Given the description of an element on the screen output the (x, y) to click on. 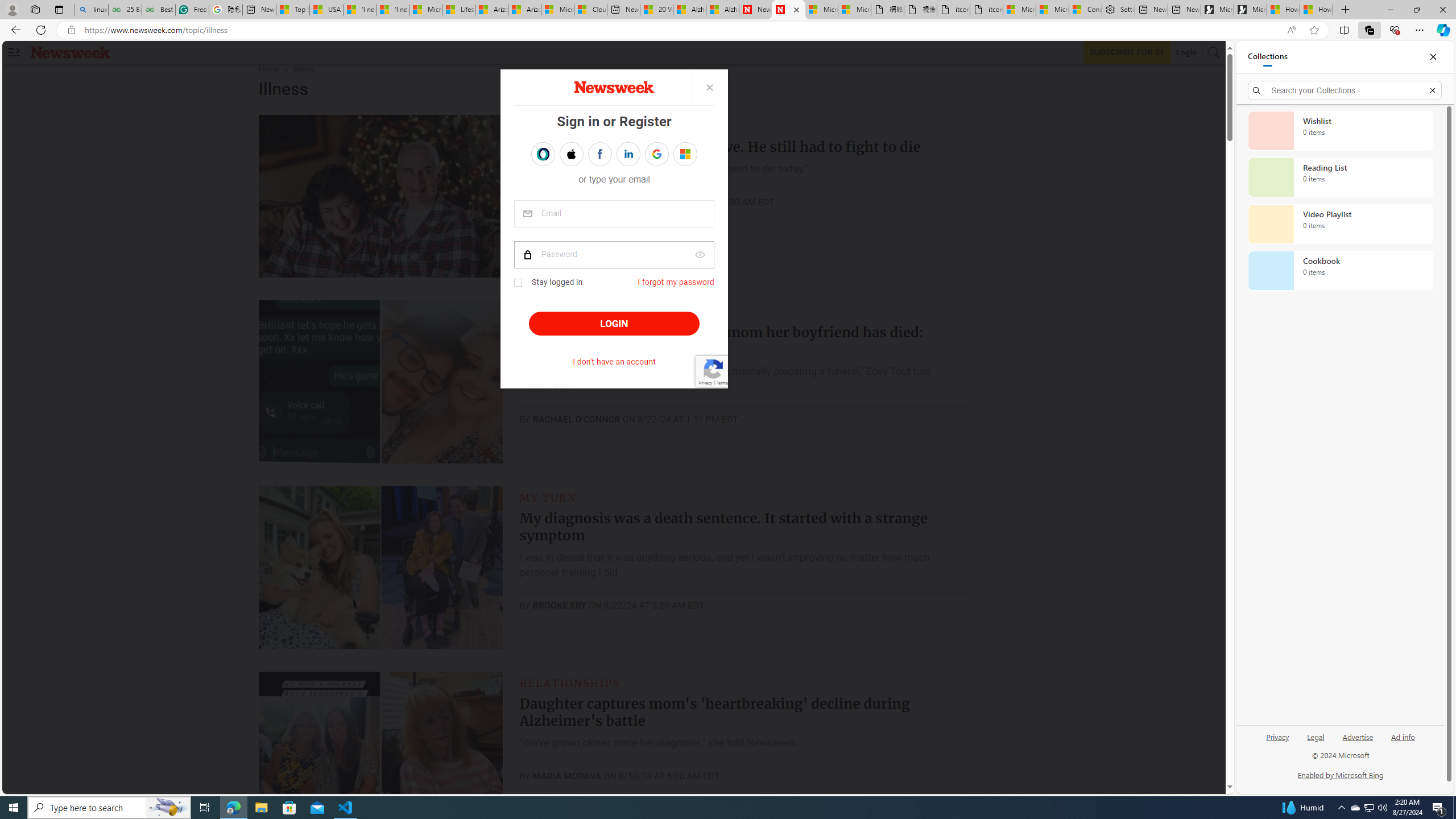
Subscribe to our service (1126, 52)
Sign in with FACEBOOK (599, 154)
MY TURN (547, 497)
Class: checkbox (517, 282)
USA TODAY - MSN (325, 9)
